Given the description of an element on the screen output the (x, y) to click on. 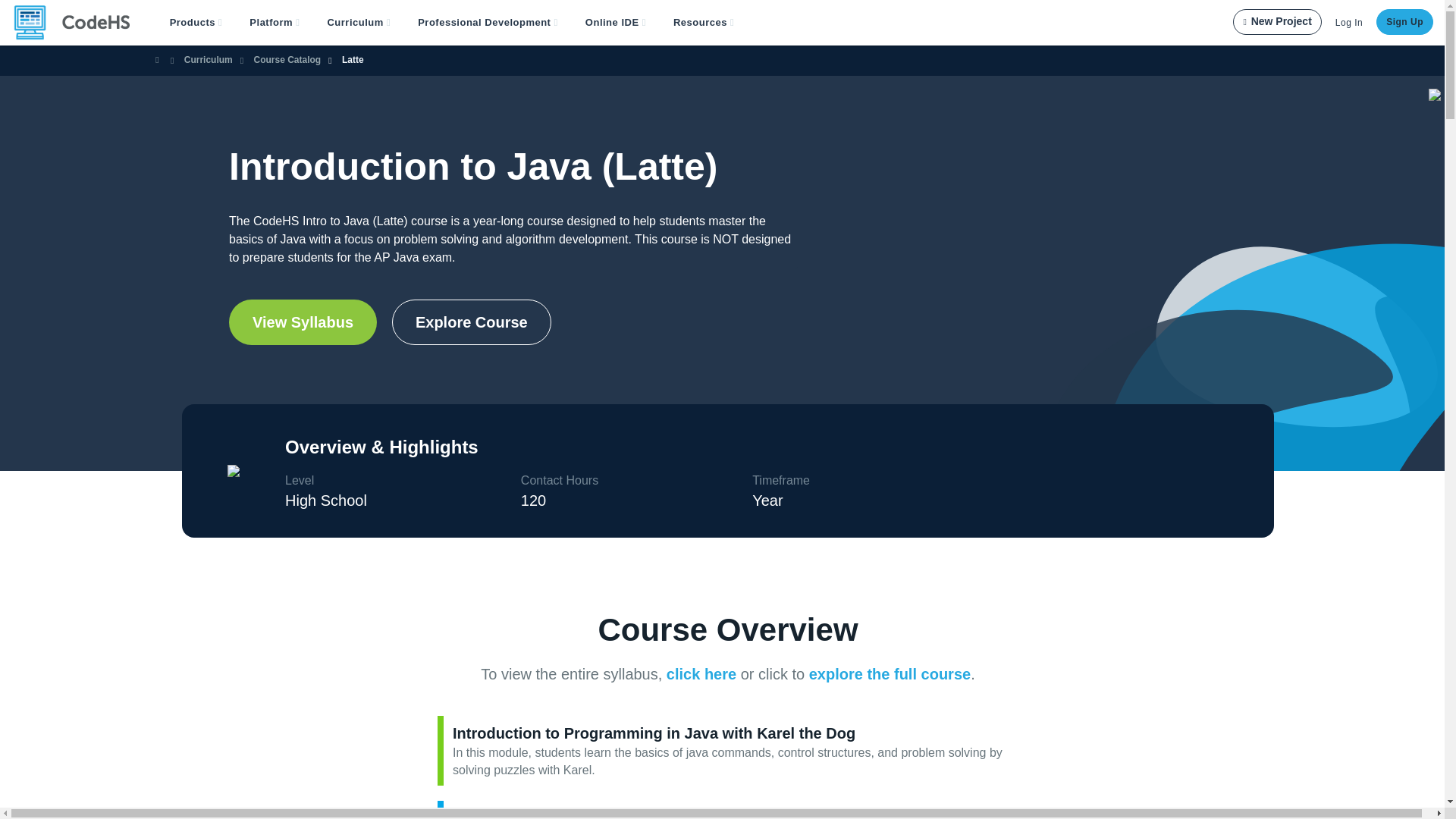
Platform (274, 22)
Curriculum (358, 22)
Products (195, 22)
